Given the description of an element on the screen output the (x, y) to click on. 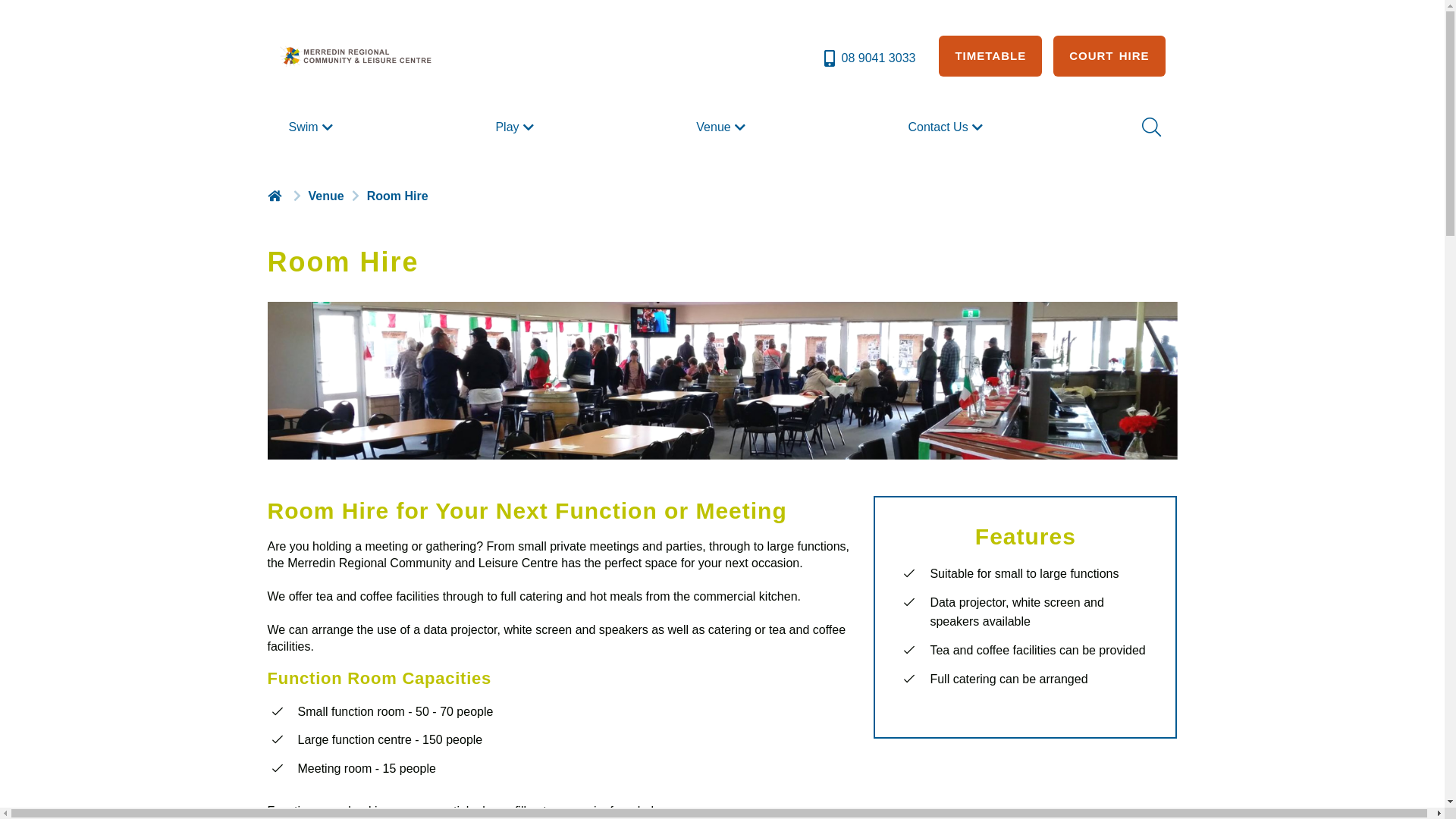
Swim Element type: text (312, 127)
COURT HIRE Element type: text (1108, 55)
08 9041 3033 Element type: text (868, 58)
Contact Us Element type: text (947, 127)
TIMETABLE Element type: text (989, 55)
Venue Element type: text (722, 127)
Search Element type: text (1150, 127)
Play Element type: text (515, 127)
  Element type: text (275, 195)
